Given the description of an element on the screen output the (x, y) to click on. 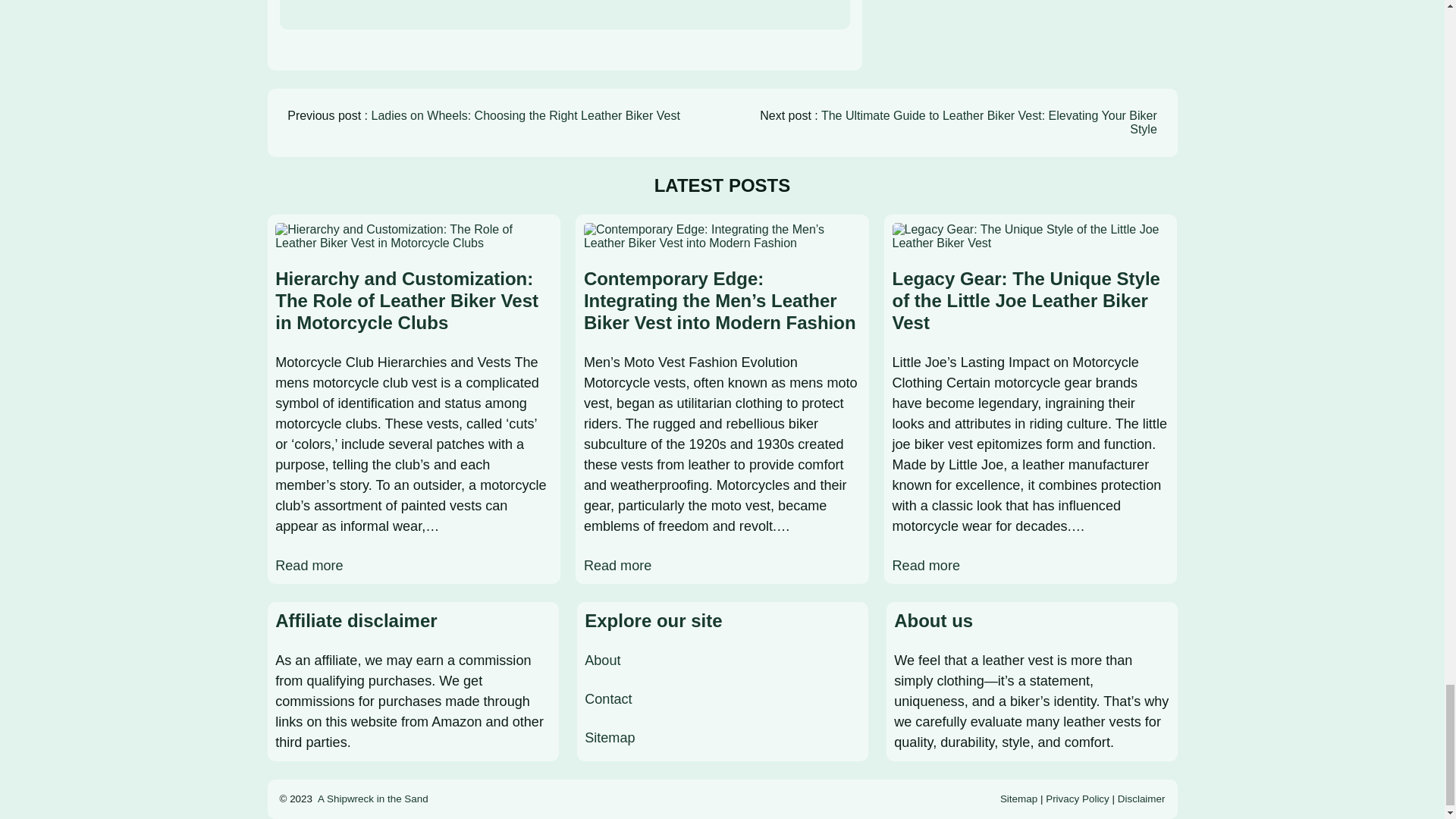
Ladies on Wheels: Choosing the Right Leather Biker Vest (525, 115)
Read more (308, 566)
Read more (616, 566)
